Given the description of an element on the screen output the (x, y) to click on. 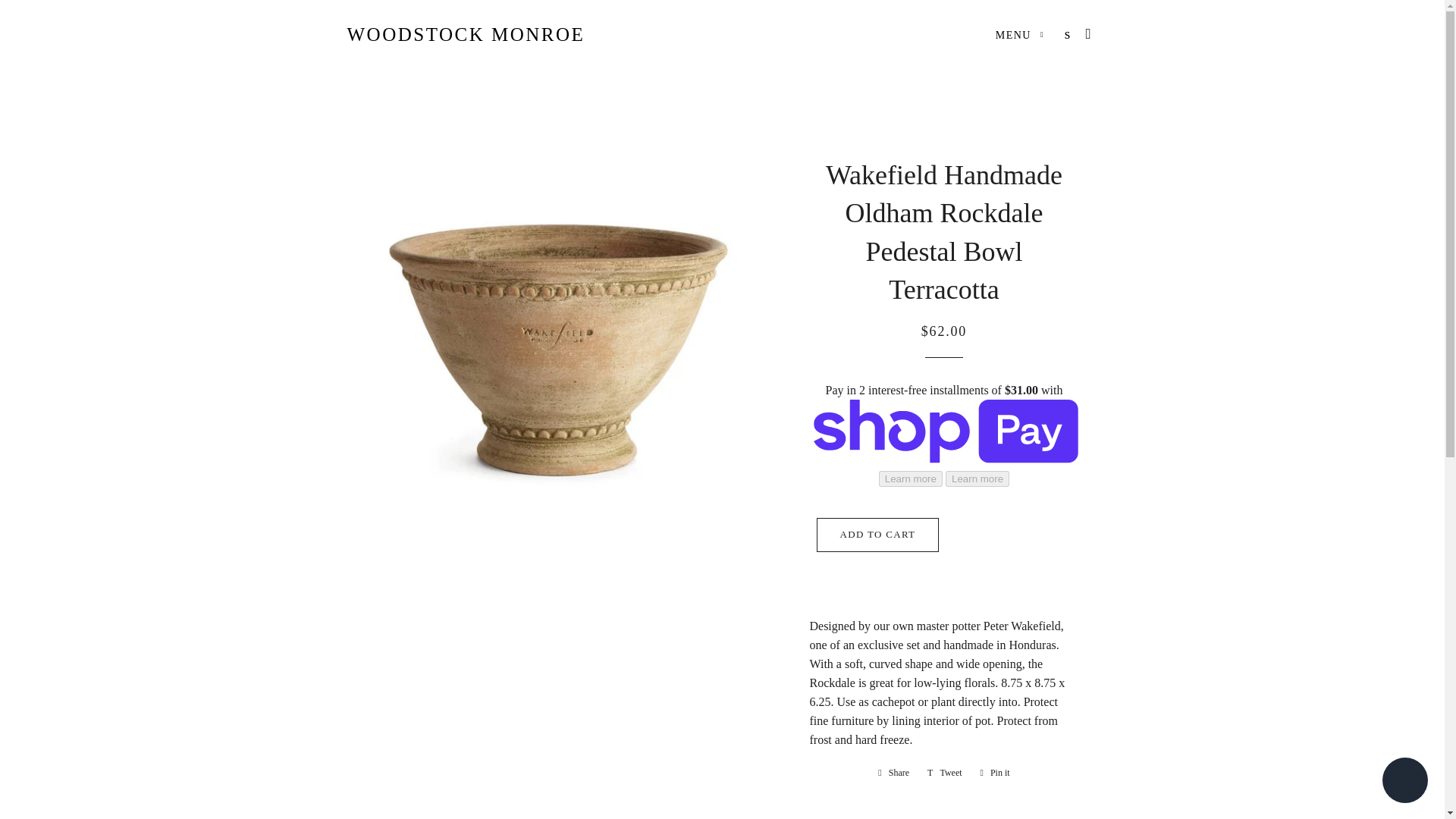
WOODSTOCK MONROE (466, 34)
MENU (1019, 35)
Tweet on Twitter (944, 772)
Pin on Pinterest (994, 772)
Shopify online store chat (1404, 781)
Share on Facebook (893, 772)
